Given the description of an element on the screen output the (x, y) to click on. 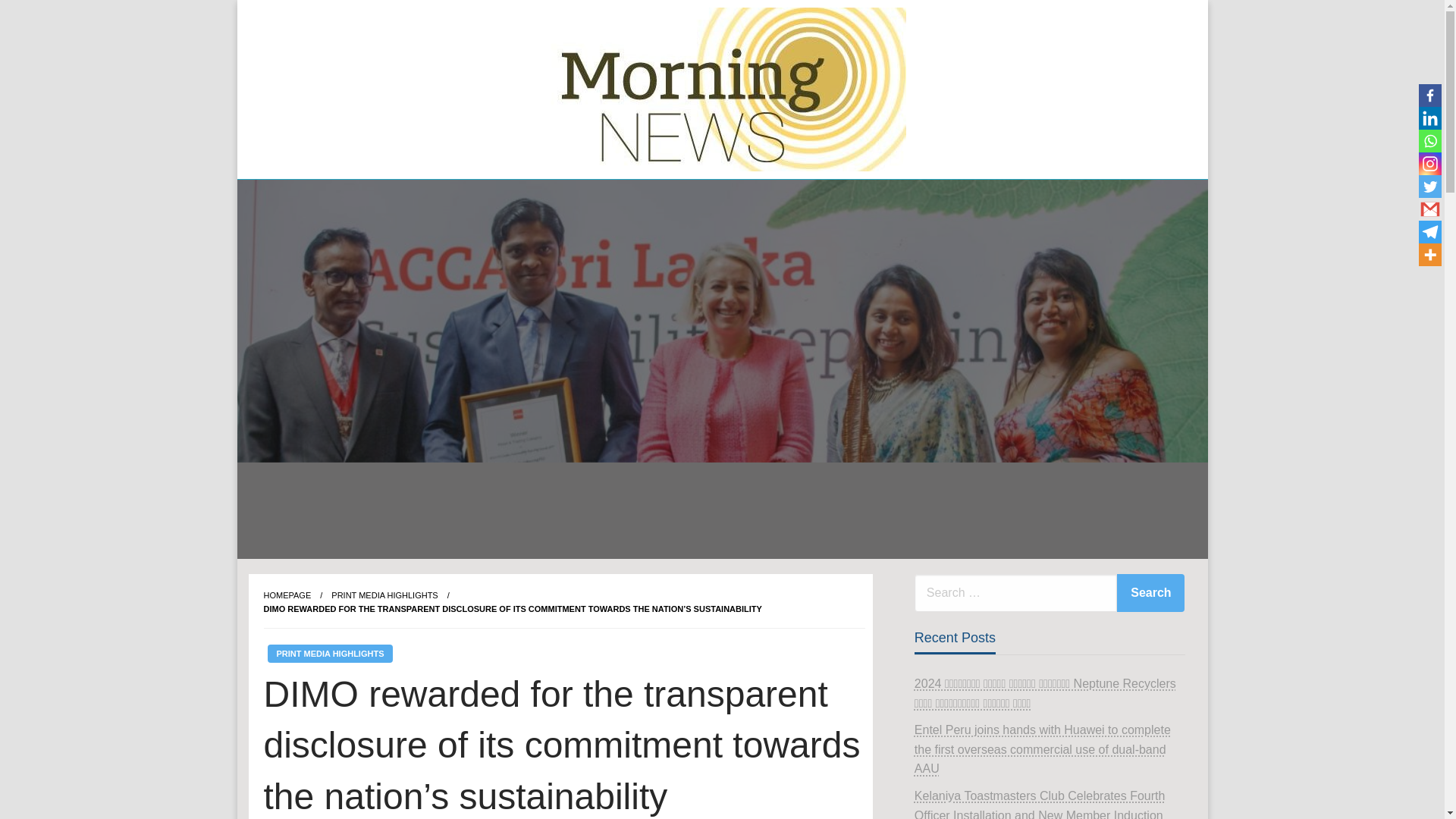
Print Media Highlights (384, 594)
Search (1150, 592)
Facebook (1429, 95)
Homepage (287, 594)
Linkedin (1429, 118)
PRINT MEDIA HIGHLIGHTS (329, 653)
PRINT MEDIA HIGHLIGHTS (384, 594)
HOMEPAGE (287, 594)
Instagram (1429, 163)
Search (1150, 592)
